Given the description of an element on the screen output the (x, y) to click on. 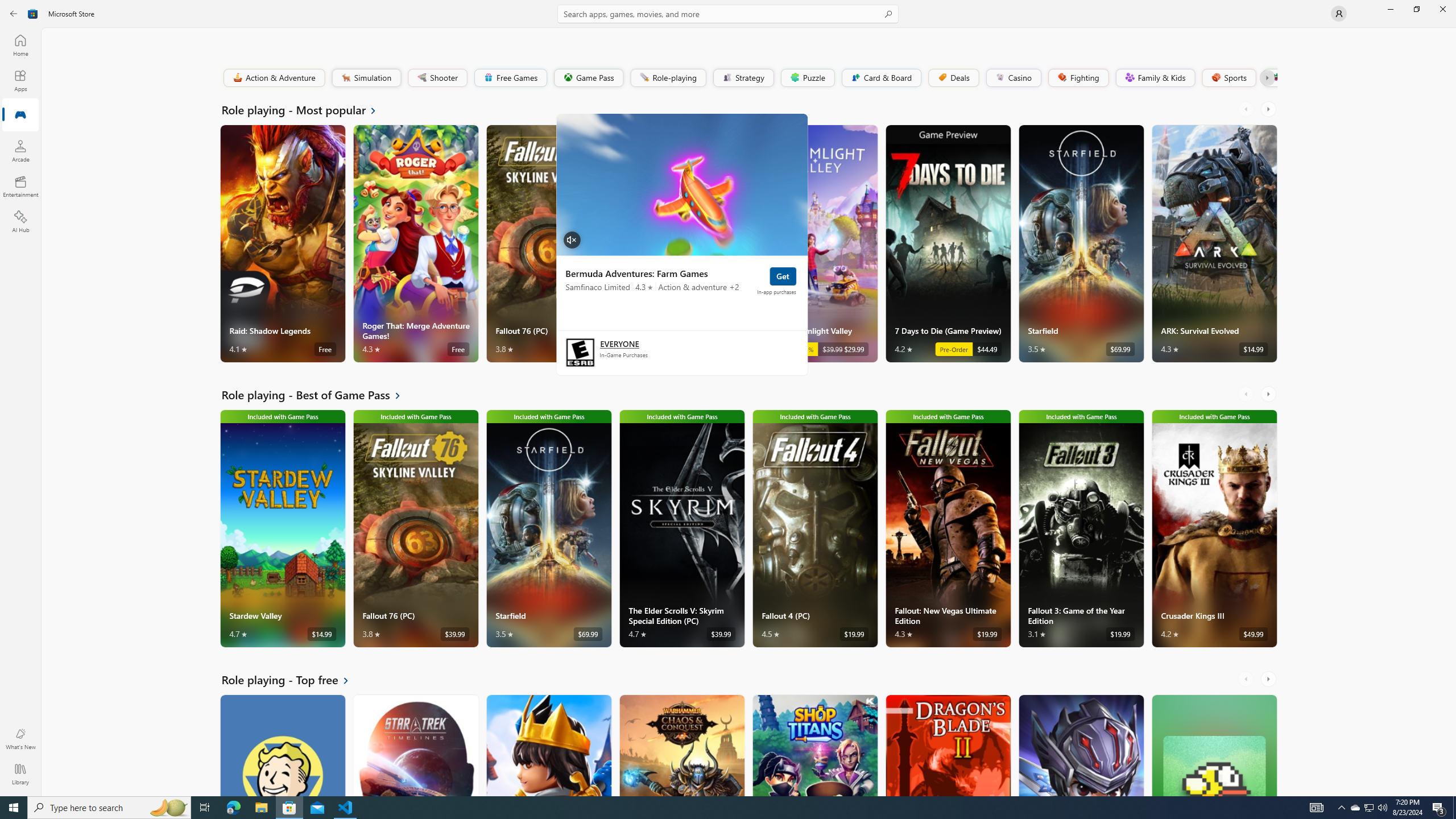
Get (783, 275)
AutomationID: LeftScrollButton (1246, 678)
AutomationID: RightScrollButton (1269, 678)
Minimize Microsoft Store (1390, 9)
Library (20, 773)
Casino (1013, 77)
Sports (1228, 77)
Entertainment (20, 185)
See all  Role playing - Top free (291, 679)
